Given the description of an element on the screen output the (x, y) to click on. 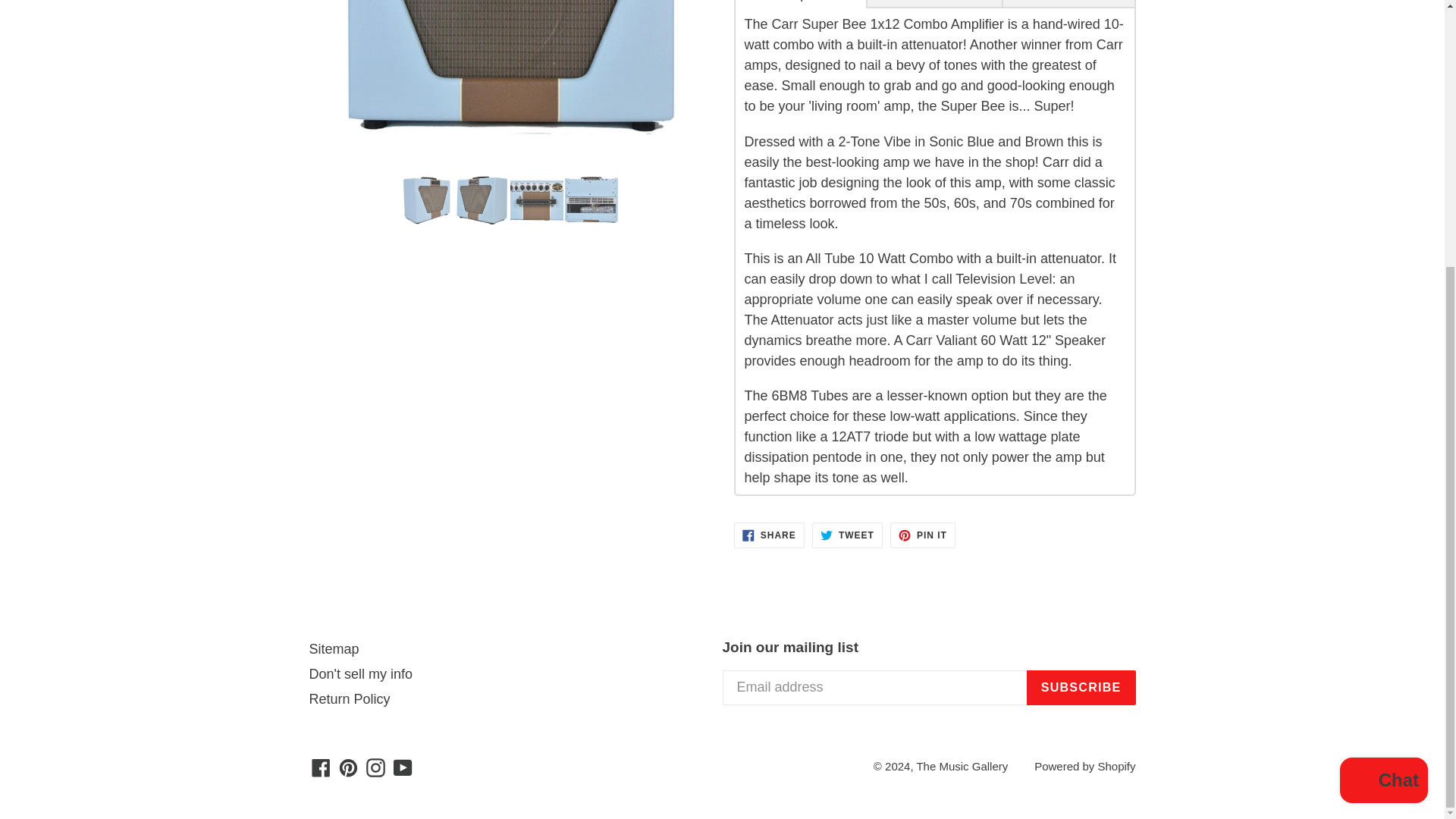
The Music Gallery on Instagram (375, 766)
Pin on Pinterest (922, 534)
Shopify online store chat (1383, 395)
The Music Gallery on YouTube (402, 766)
The Music Gallery on Pinterest (347, 766)
The Music Gallery on Facebook (320, 766)
Share on Facebook (769, 534)
Tweet on Twitter (847, 534)
